Given the description of an element on the screen output the (x, y) to click on. 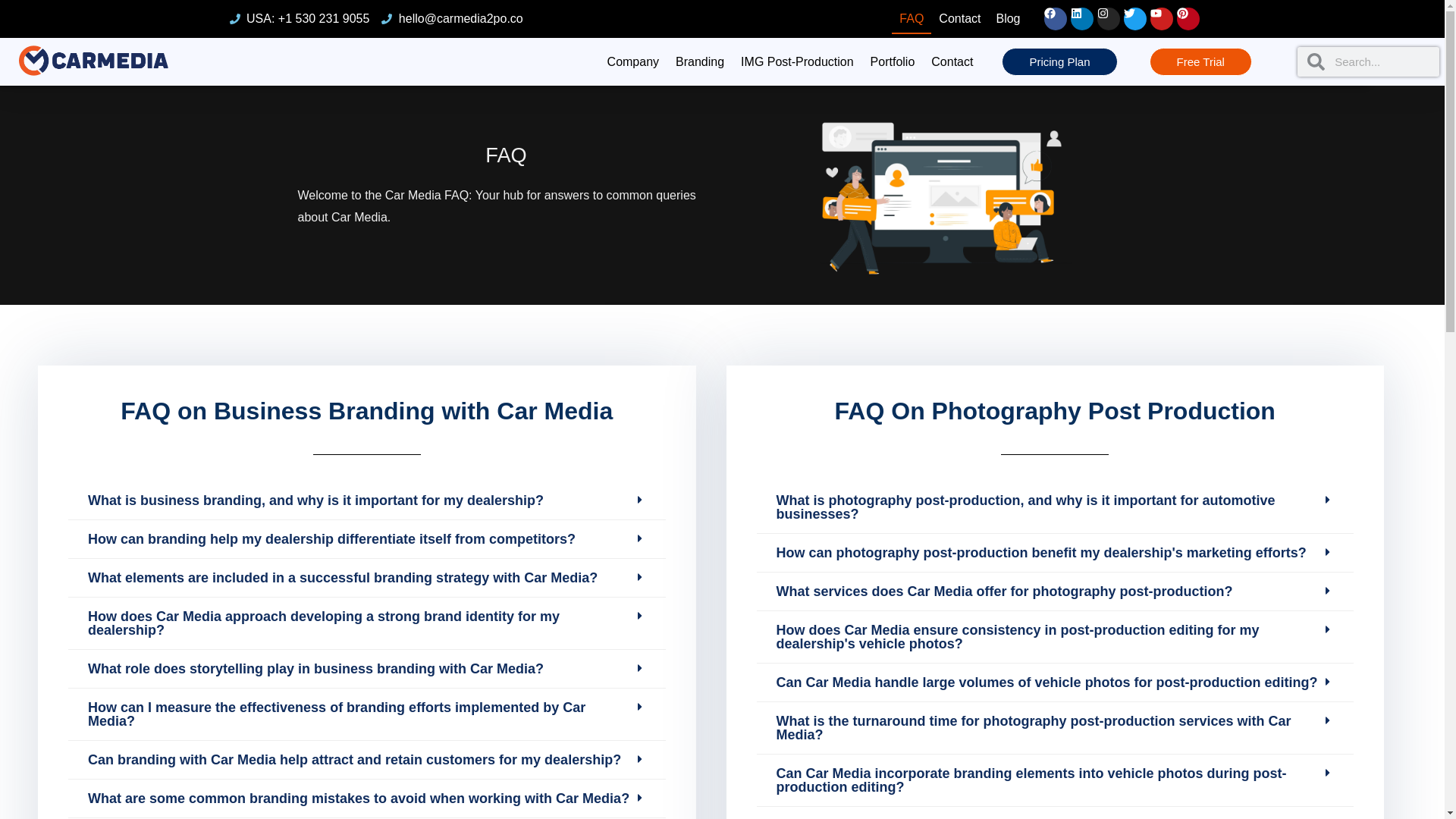
Contact (959, 19)
Facebook (1054, 18)
Blog (1007, 19)
Youtube (1161, 18)
FAQ (911, 19)
Company (632, 61)
Pinterest (1187, 18)
Branding (699, 61)
Twitter (1135, 18)
Linkedin (1081, 18)
